Given the description of an element on the screen output the (x, y) to click on. 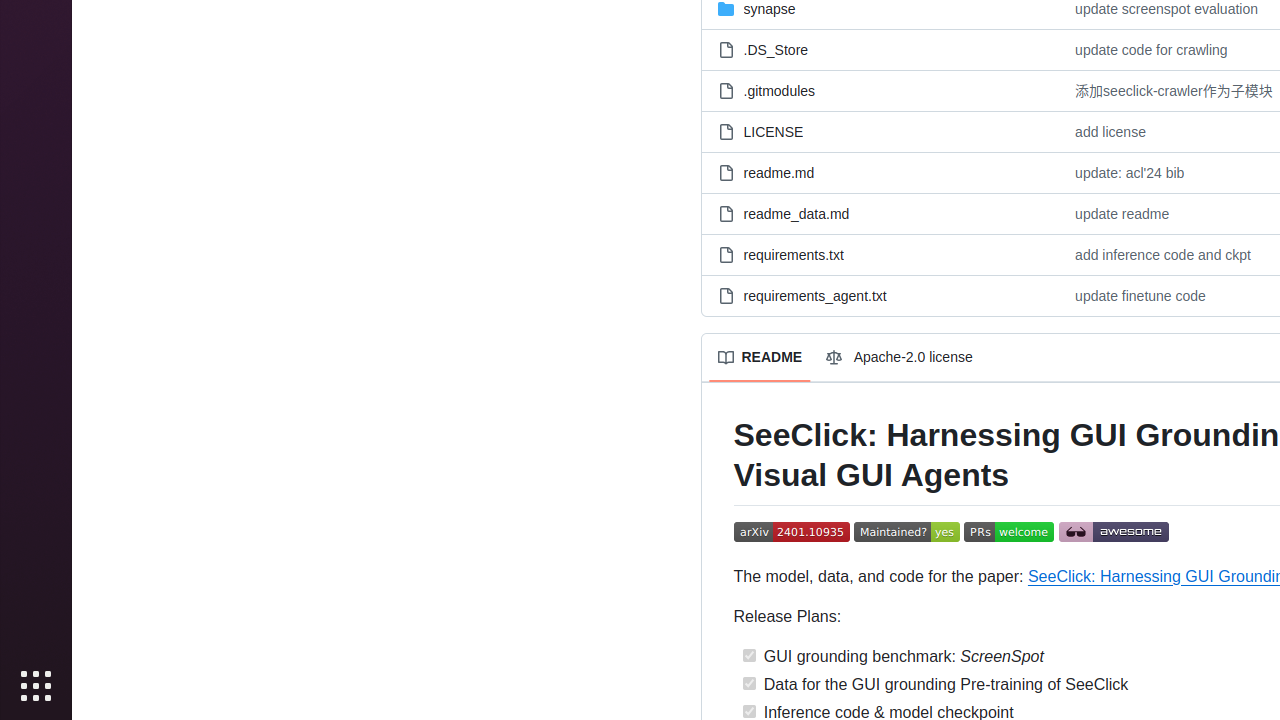
readme_data.md, (File) Element type: table-cell (880, 213)
add inference code and ckpt Element type: link (1163, 254)
requirements.txt, (File) Element type: link (793, 254)
requirements_agent.txt, (File) Element type: table-cell (880, 295)
.gitmodules, (File) Element type: table-cell (880, 90)
